Given the description of an element on the screen output the (x, y) to click on. 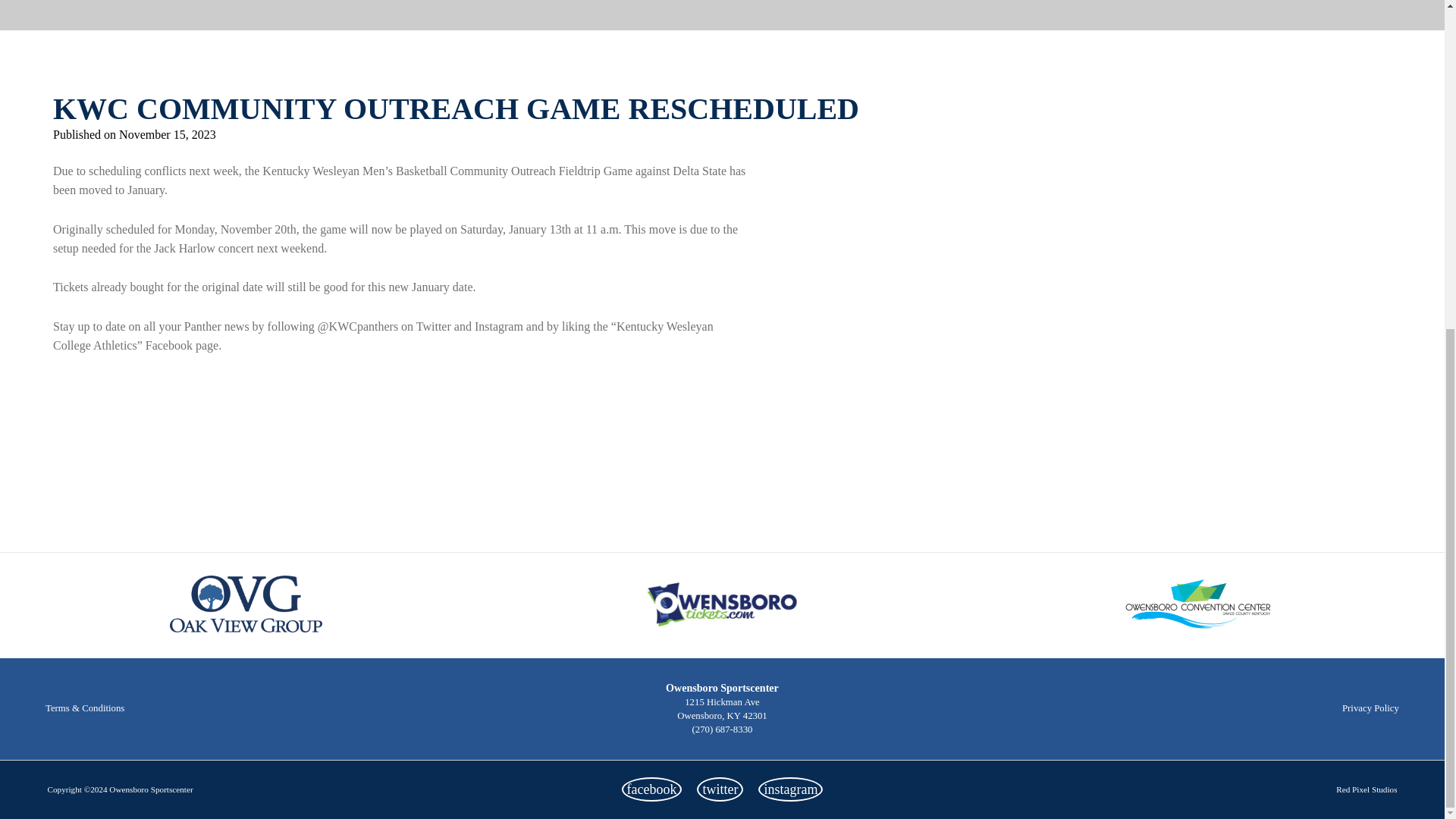
Opens in a new tab or window (652, 789)
Opens in a new tab or window (790, 789)
Opens in a new tab or window (719, 789)
